Given the description of an element on the screen output the (x, y) to click on. 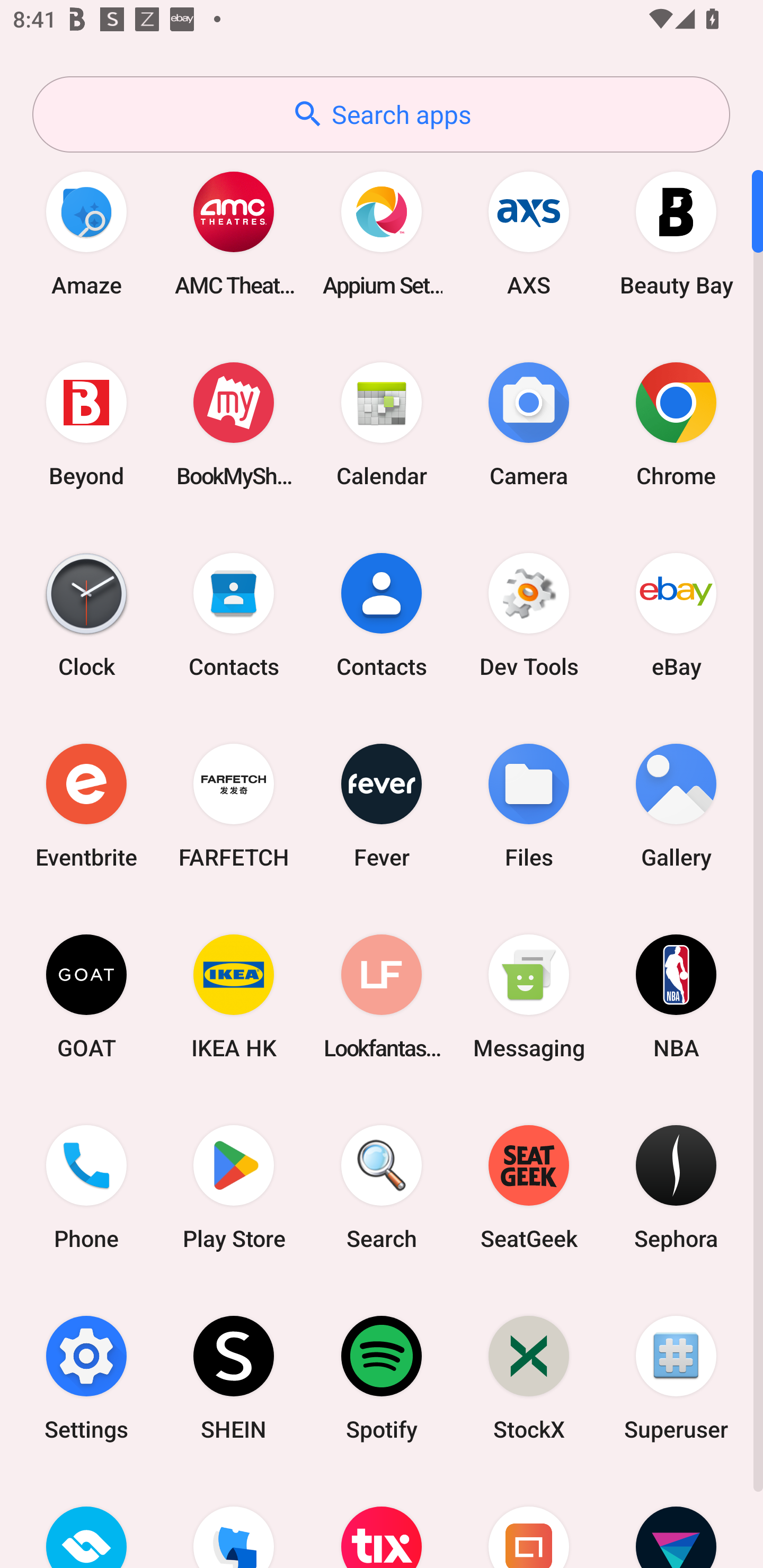
  Search apps (381, 114)
Amaze (86, 233)
AMC Theatres (233, 233)
Appium Settings (381, 233)
AXS (528, 233)
Beauty Bay (676, 233)
Beyond (86, 424)
BookMyShow (233, 424)
Calendar (381, 424)
Camera (528, 424)
Chrome (676, 424)
Clock (86, 614)
Contacts (233, 614)
Contacts (381, 614)
Dev Tools (528, 614)
eBay (676, 614)
Eventbrite (86, 805)
FARFETCH (233, 805)
Fever (381, 805)
Files (528, 805)
Gallery (676, 805)
GOAT (86, 996)
IKEA HK (233, 996)
Lookfantastic (381, 996)
Messaging (528, 996)
NBA (676, 996)
Phone (86, 1186)
Play Store (233, 1186)
Search (381, 1186)
SeatGeek (528, 1186)
Sephora (676, 1186)
Settings (86, 1377)
SHEIN (233, 1377)
Spotify (381, 1377)
StockX (528, 1377)
Superuser (676, 1377)
TicketSwap (86, 1520)
TickPick (233, 1520)
TodayTix (381, 1520)
Urban Ladder (528, 1520)
Vivid Seats (676, 1520)
